Given the description of an element on the screen output the (x, y) to click on. 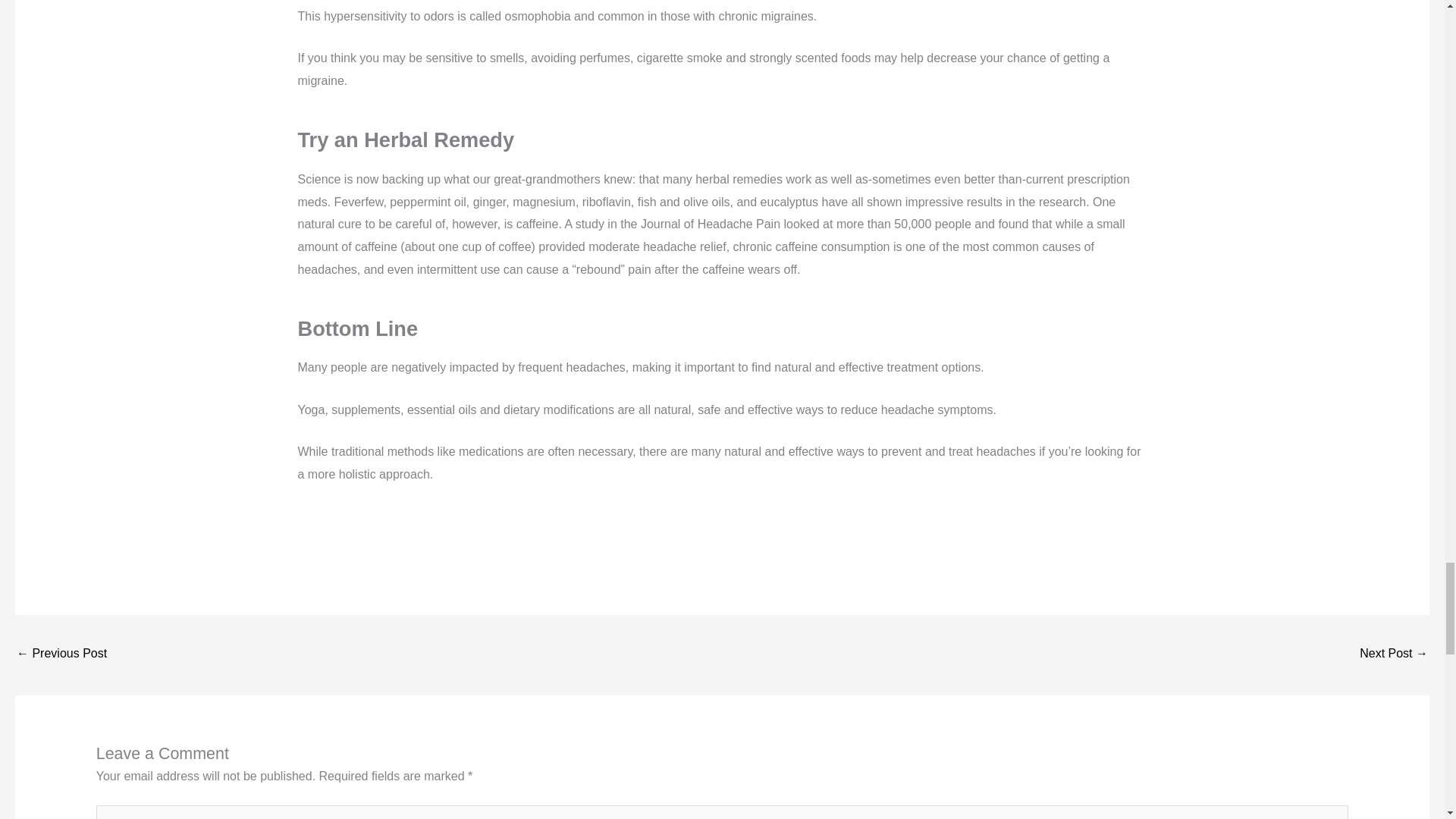
Remedies for a Stiff Neck (1393, 654)
Heart Palpitations: Home Remedies for Fast Heartbeat (61, 654)
